Given the description of an element on the screen output the (x, y) to click on. 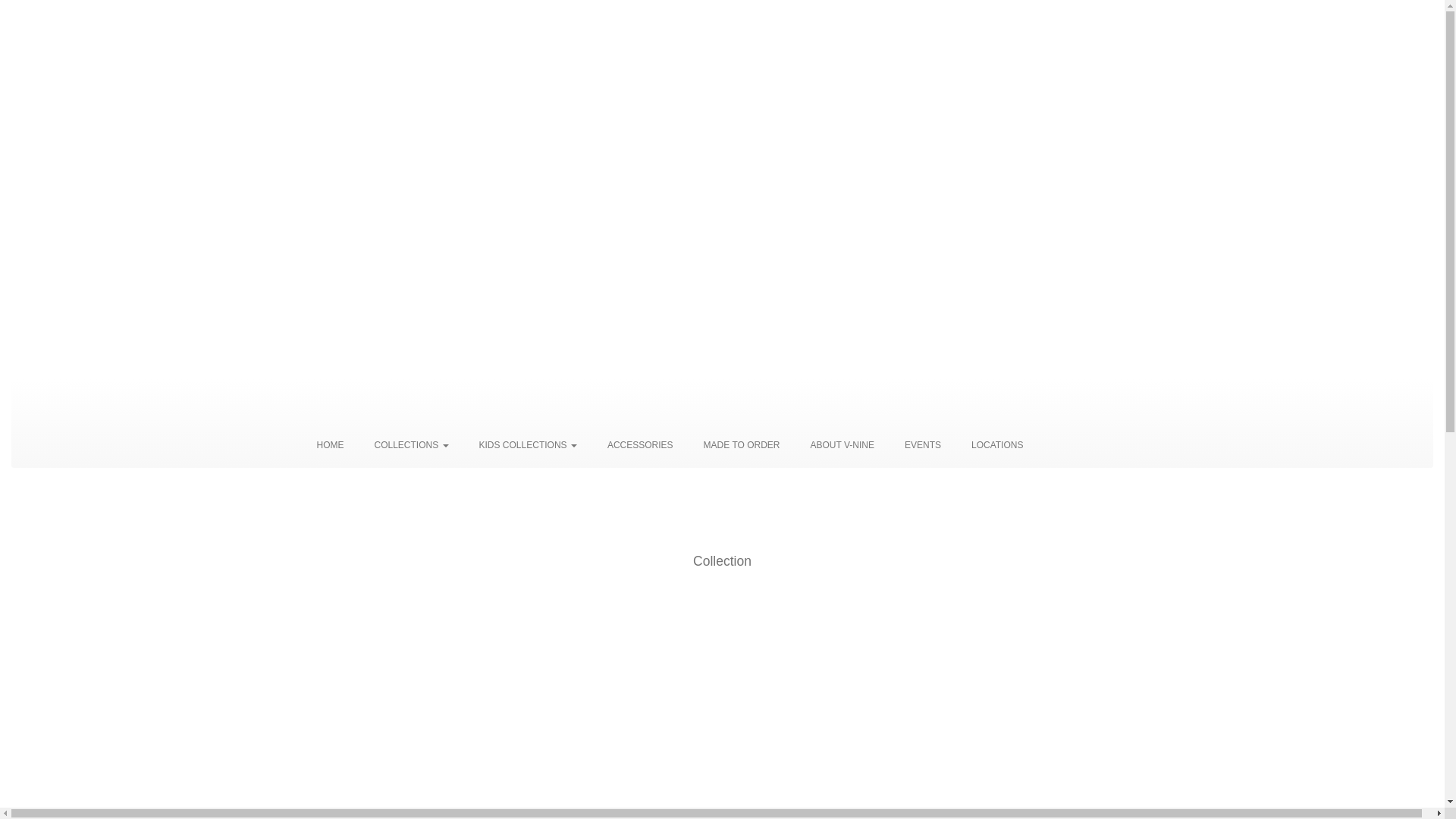
LOCATIONS Element type: text (997, 445)
KIDS COLLECTIONS Element type: text (527, 445)
HOME Element type: text (329, 445)
ACCESSORIES Element type: text (640, 445)
YouTube video player Element type: hover (722, 189)
MADE TO ORDER Element type: text (741, 445)
ABOUT V-NINE Element type: text (842, 445)
COLLECTIONS Element type: text (410, 445)
EVENTS Element type: text (922, 445)
